Given the description of an element on the screen output the (x, y) to click on. 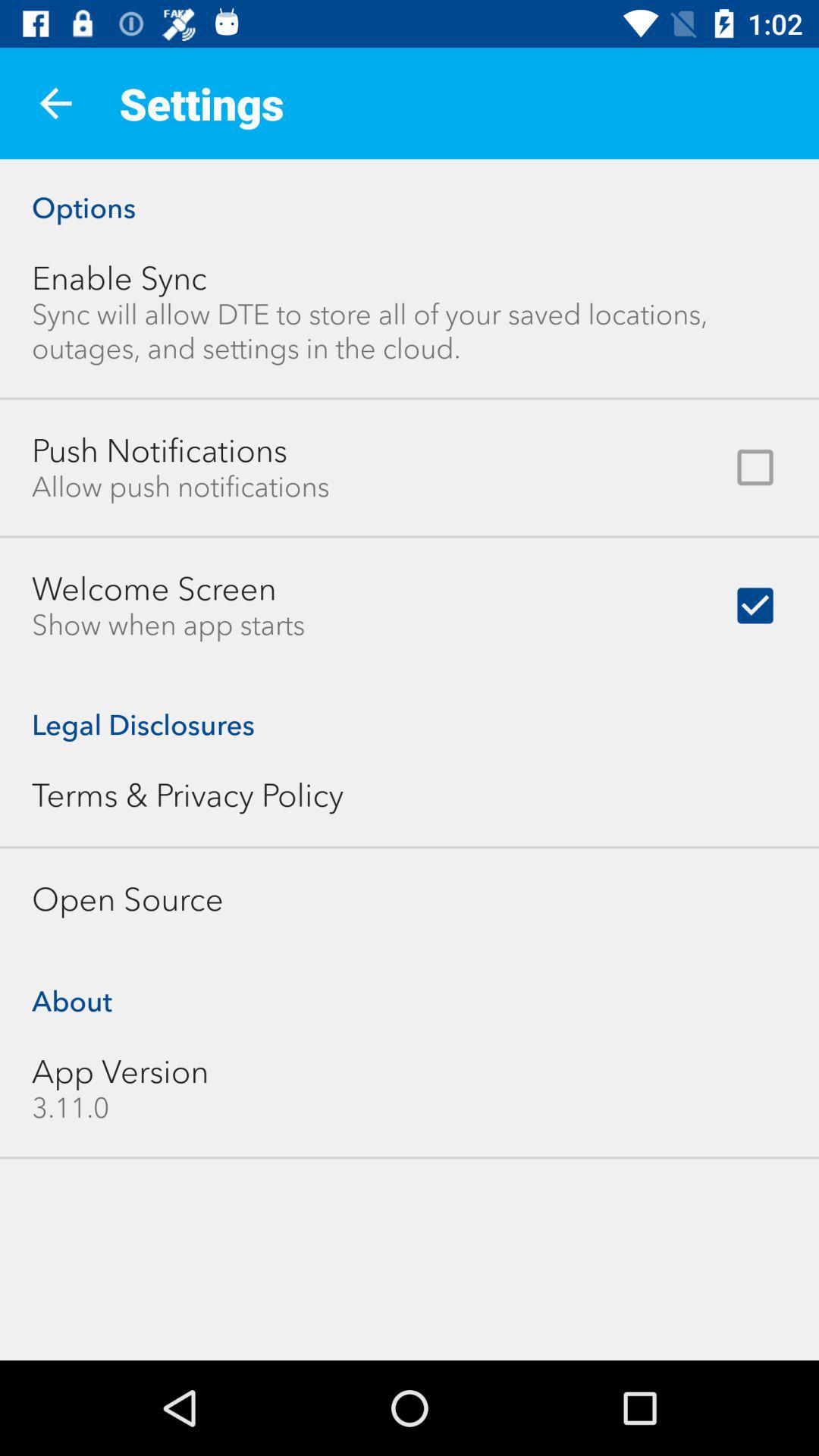
select terms & privacy policy item (187, 795)
